Given the description of an element on the screen output the (x, y) to click on. 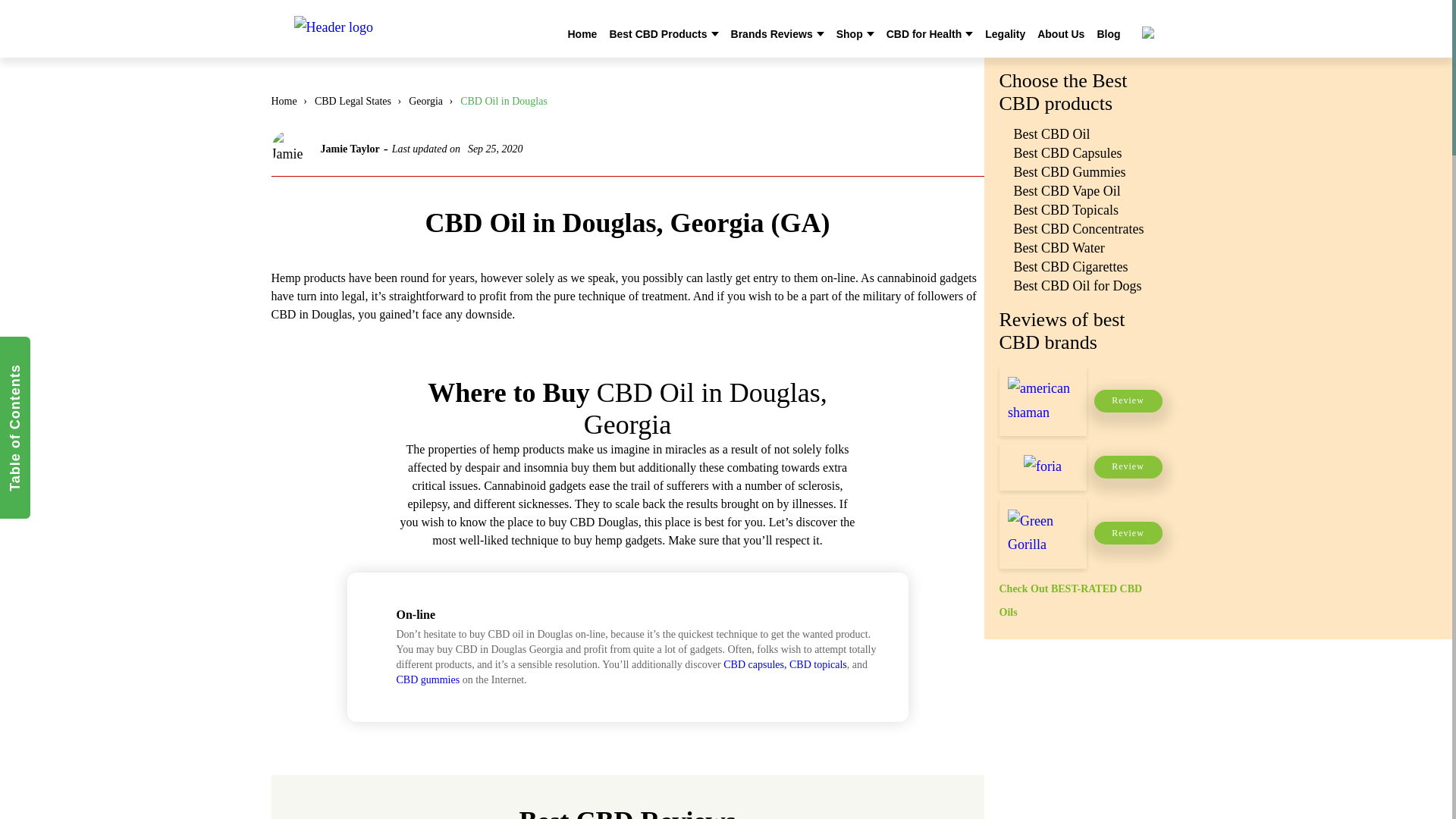
Best CBD Products (657, 33)
CBD oil reviews (394, 30)
Home (581, 33)
Brands Reviews (771, 33)
